Given the description of an element on the screen output the (x, y) to click on. 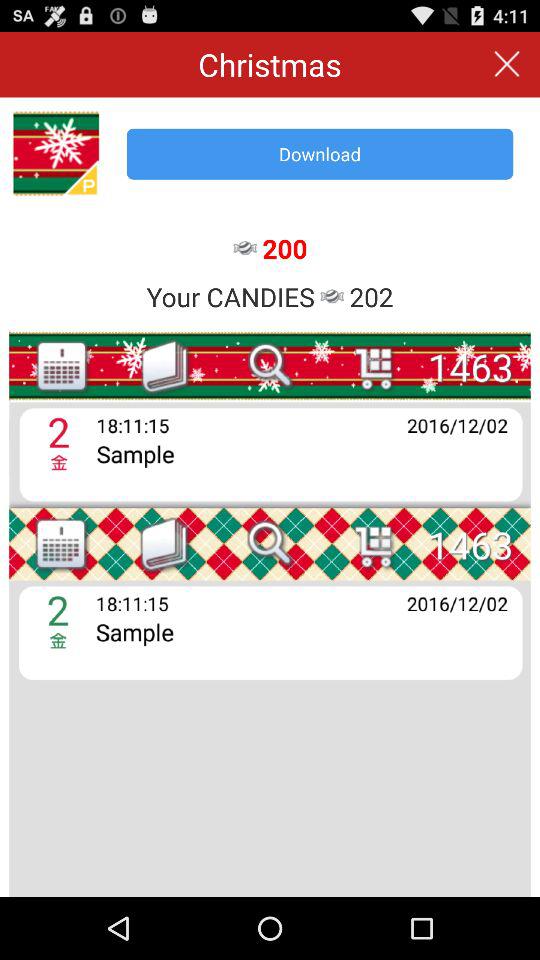
launch icon above the download button (506, 64)
